Given the description of an element on the screen output the (x, y) to click on. 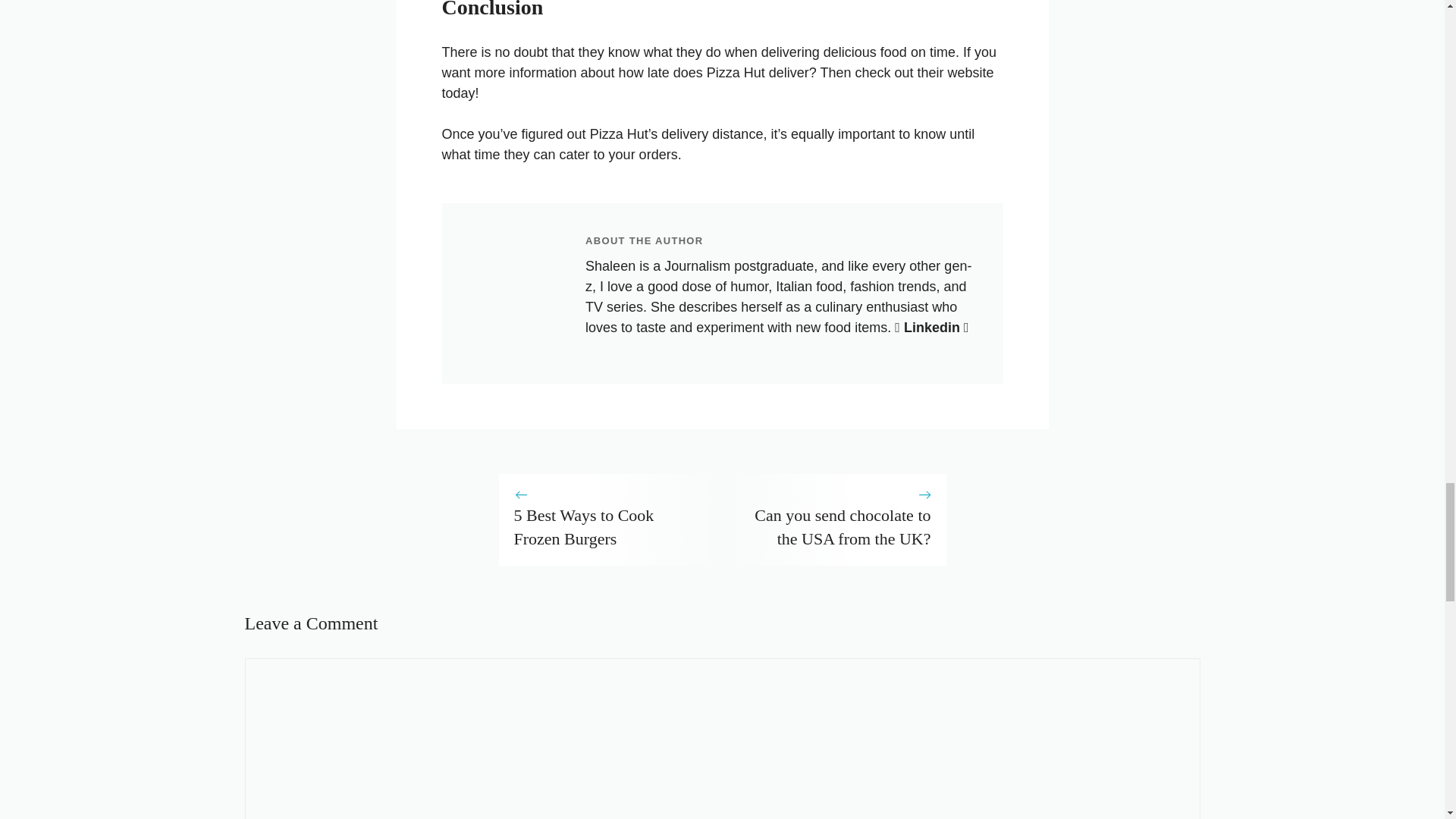
Can you send chocolate to the USA from the UK? (842, 526)
5 Best Ways to Cook Frozen Burgers (583, 526)
